Given the description of an element on the screen output the (x, y) to click on. 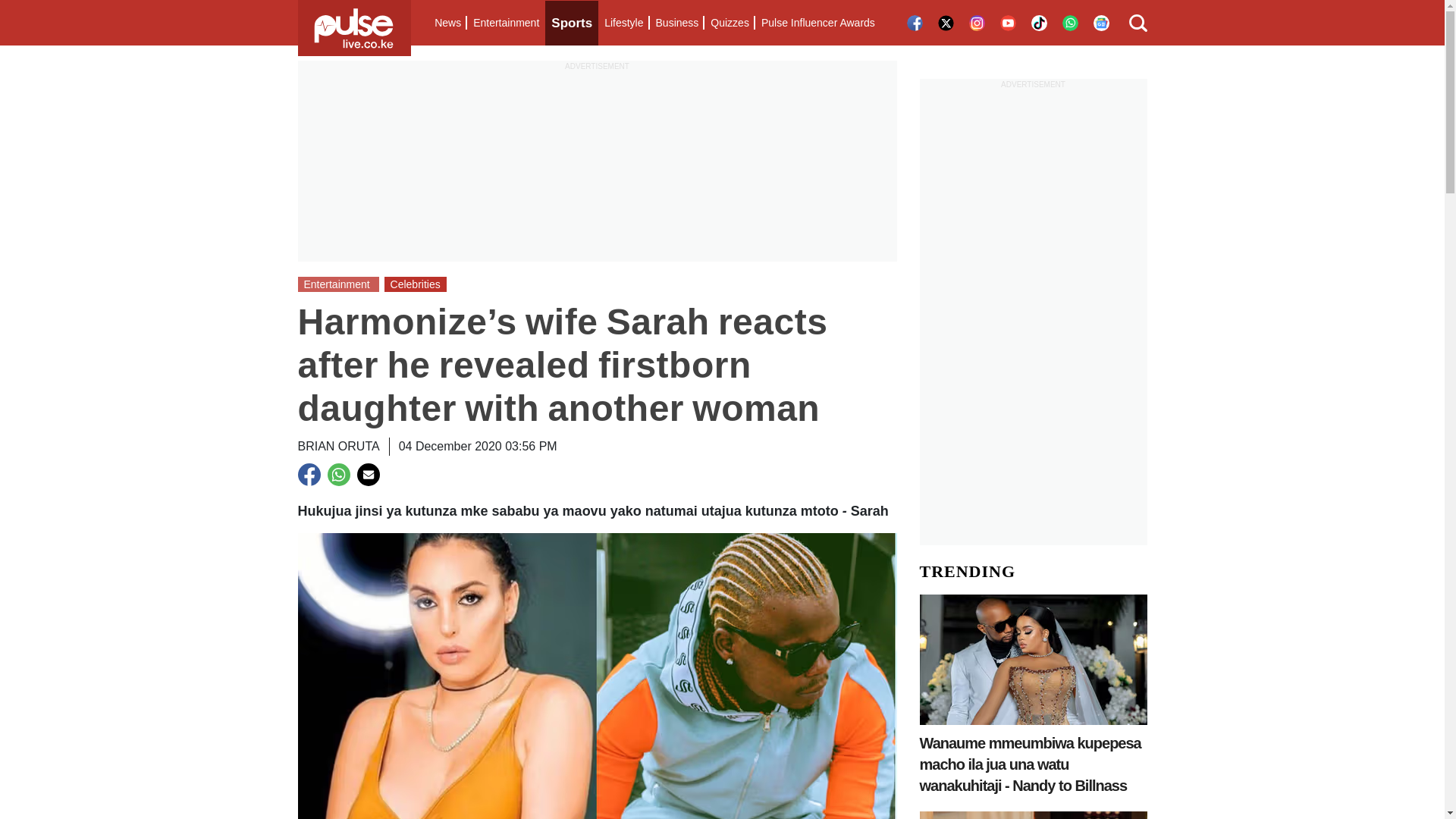
Business (676, 22)
Lifestyle (623, 22)
Pulse Influencer Awards (817, 22)
Entertainment (505, 22)
Sports (571, 22)
Quizzes (729, 22)
